Given the description of an element on the screen output the (x, y) to click on. 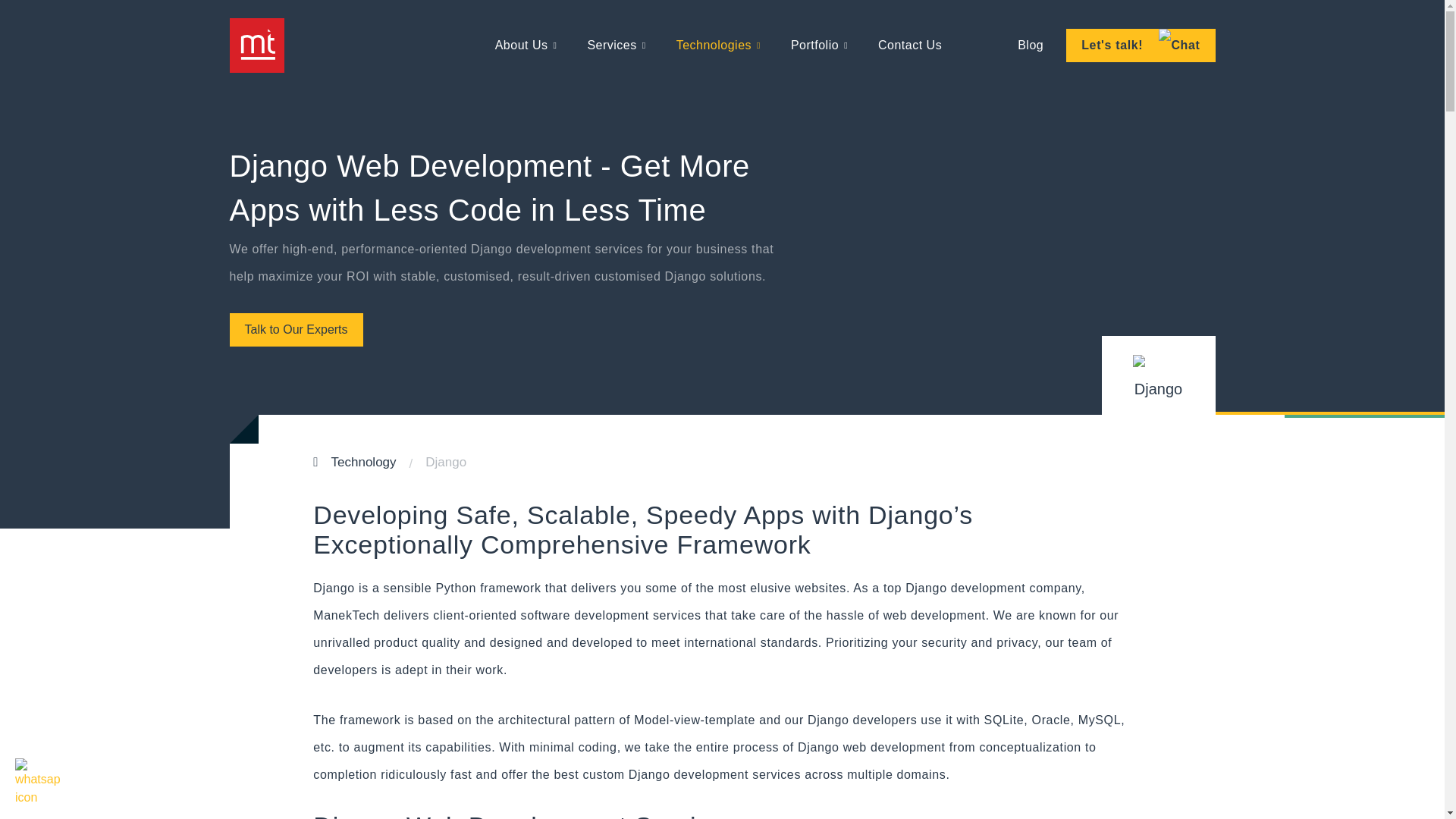
About Us (526, 45)
About (526, 45)
whatsapp icon (37, 780)
ManekTech (255, 45)
